Given the description of an element on the screen output the (x, y) to click on. 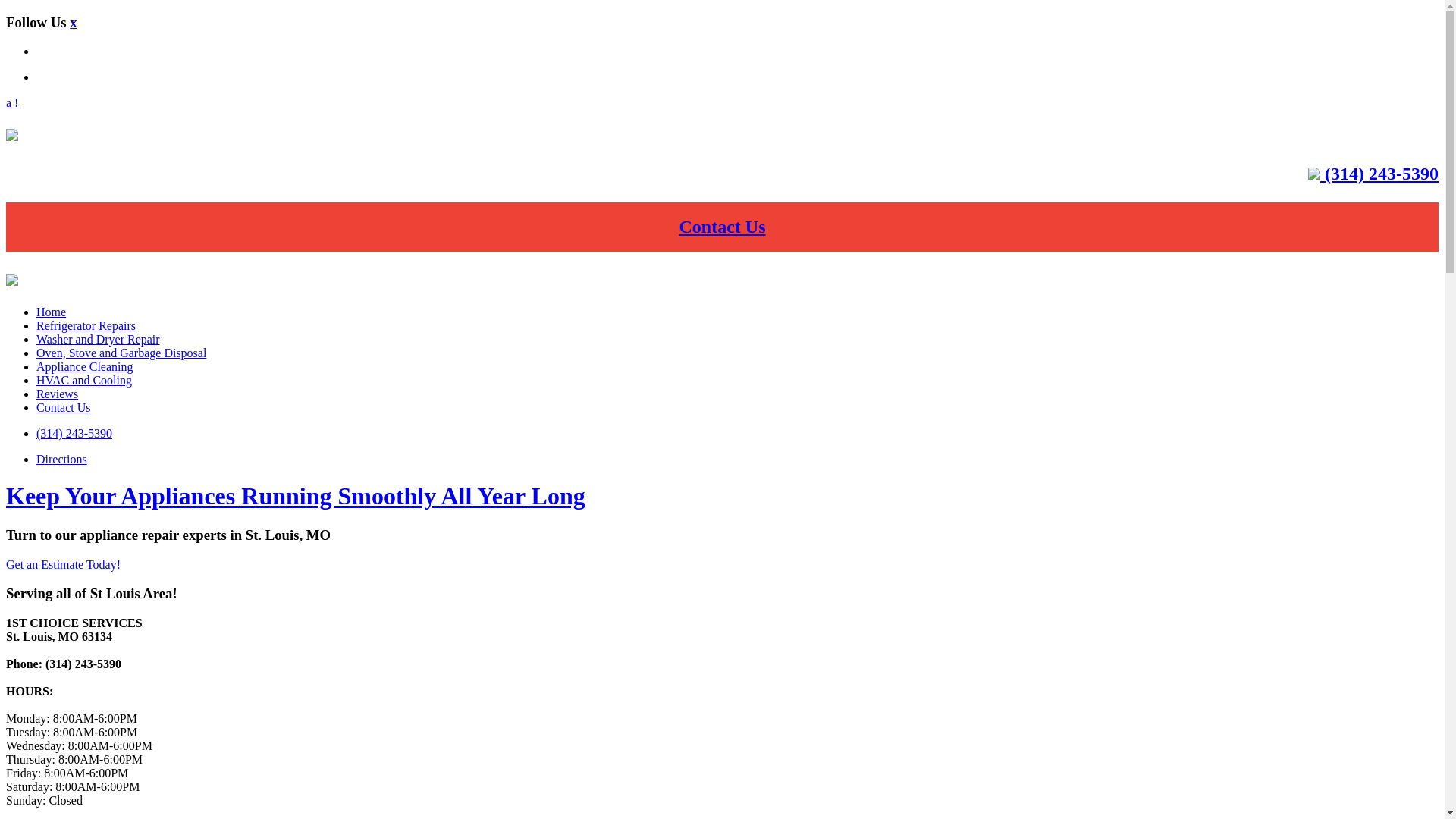
HVAC and Cooling Element type: text (83, 379)
Keep Your Appliances Running Smoothly All Year Long Element type: text (295, 495)
Refrigerator Repairs Element type: text (85, 325)
1st Choice Services Element type: hover (12, 134)
Washer and Dryer Repair Element type: text (98, 338)
x Element type: text (72, 22)
Get an Estimate Today! Element type: text (63, 564)
a Element type: text (8, 102)
Contact Us Element type: text (63, 407)
(314) 243-5390 Element type: text (74, 432)
Directions Element type: text (61, 458)
1st Choice Services Element type: hover (12, 279)
! Element type: text (16, 102)
(314) 243-5390 Element type: text (1379, 173)
Reviews Element type: text (57, 393)
Appliance Cleaning Element type: text (84, 366)
Contact Us Element type: text (722, 226)
Home Element type: text (50, 311)
Oven, Stove and Garbage Disposal Element type: text (121, 352)
